Given the description of an element on the screen output the (x, y) to click on. 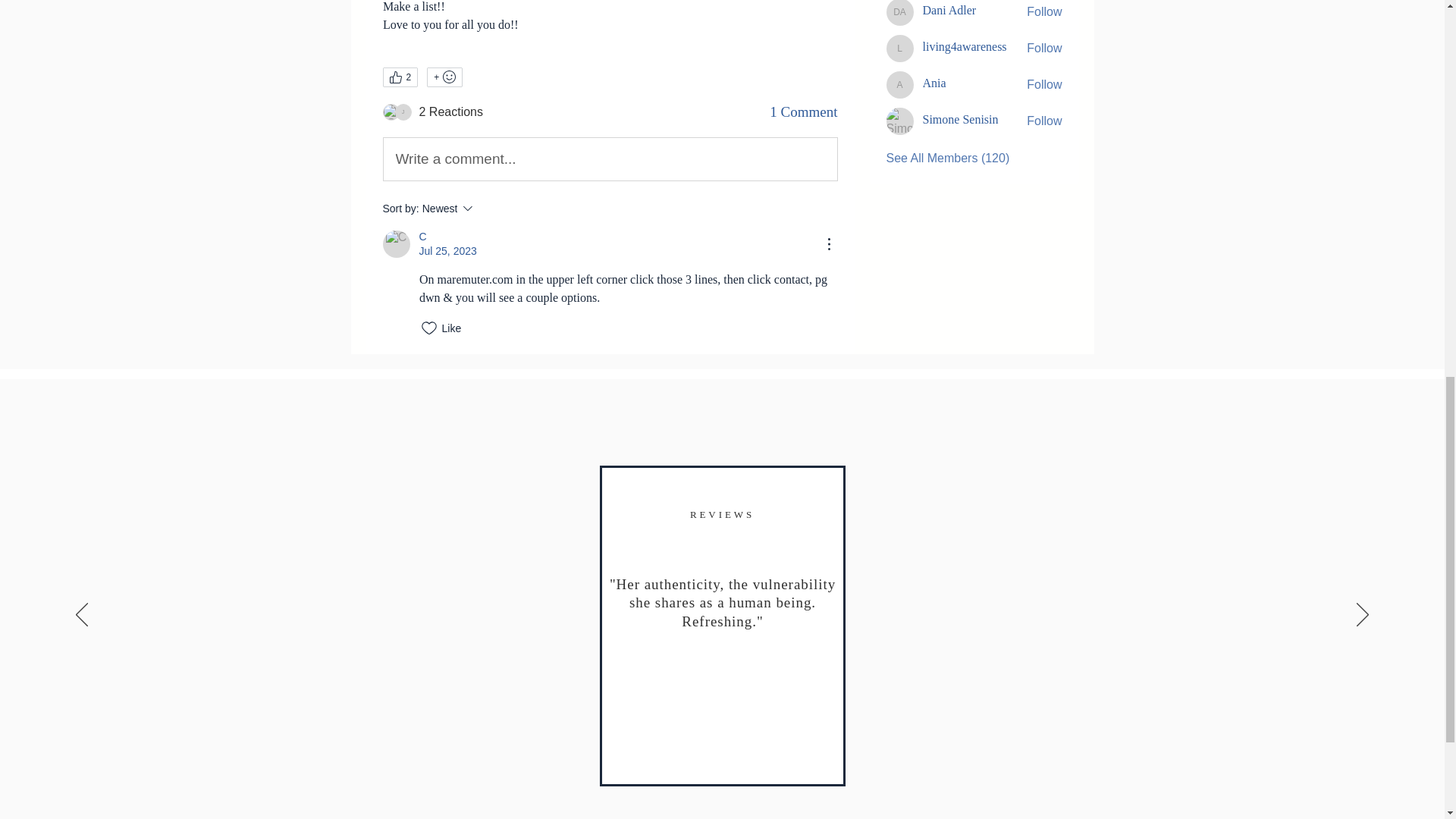
Ania (932, 83)
1 Comment (803, 112)
Follow (1043, 12)
Simone Senisin (898, 121)
C (395, 243)
Dani Adler (948, 10)
living4awareness (963, 46)
Dani Adler (898, 12)
Ania (898, 84)
